Given the description of an element on the screen output the (x, y) to click on. 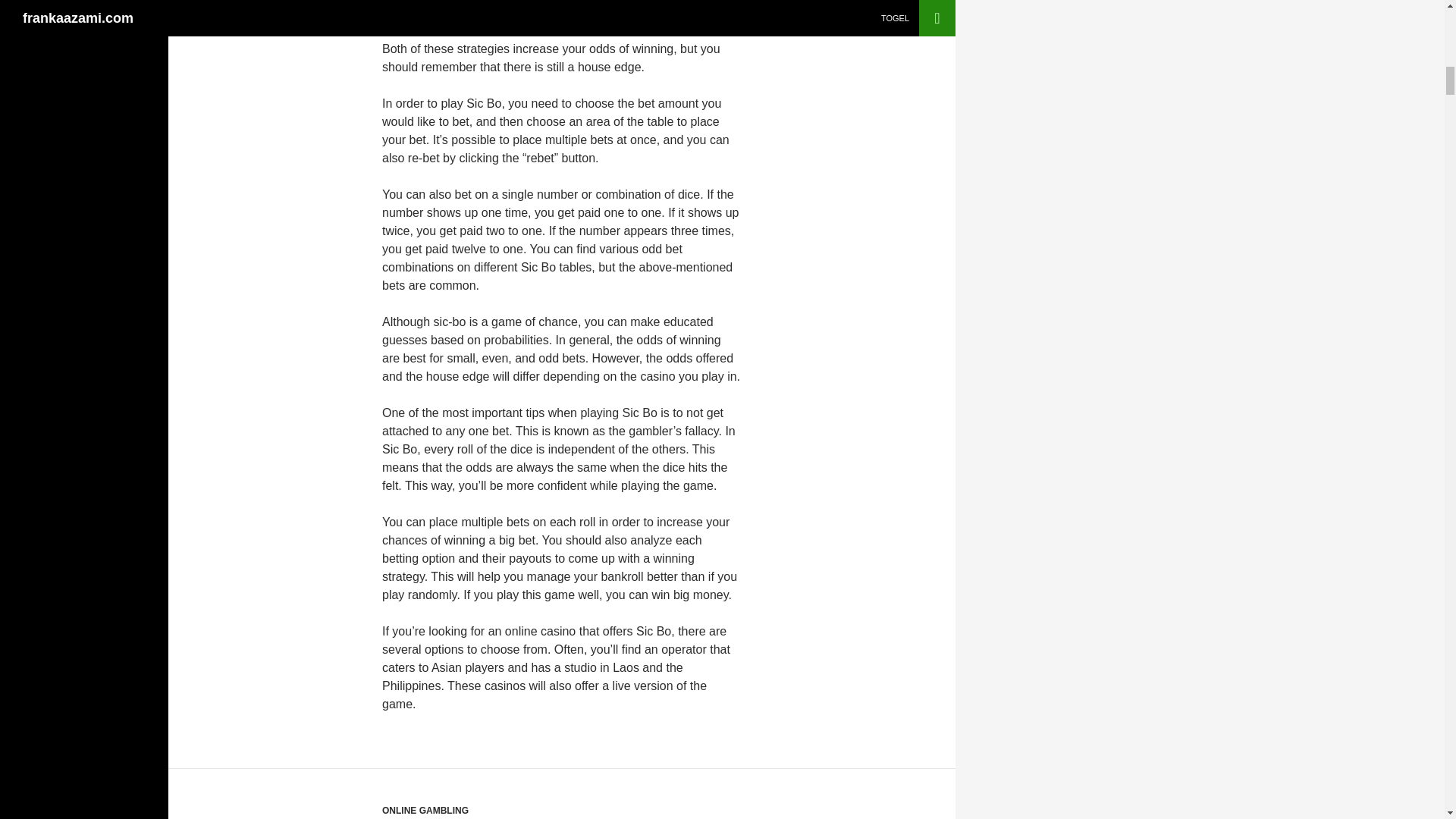
ONLINE GAMBLING (424, 810)
